Given the description of an element on the screen output the (x, y) to click on. 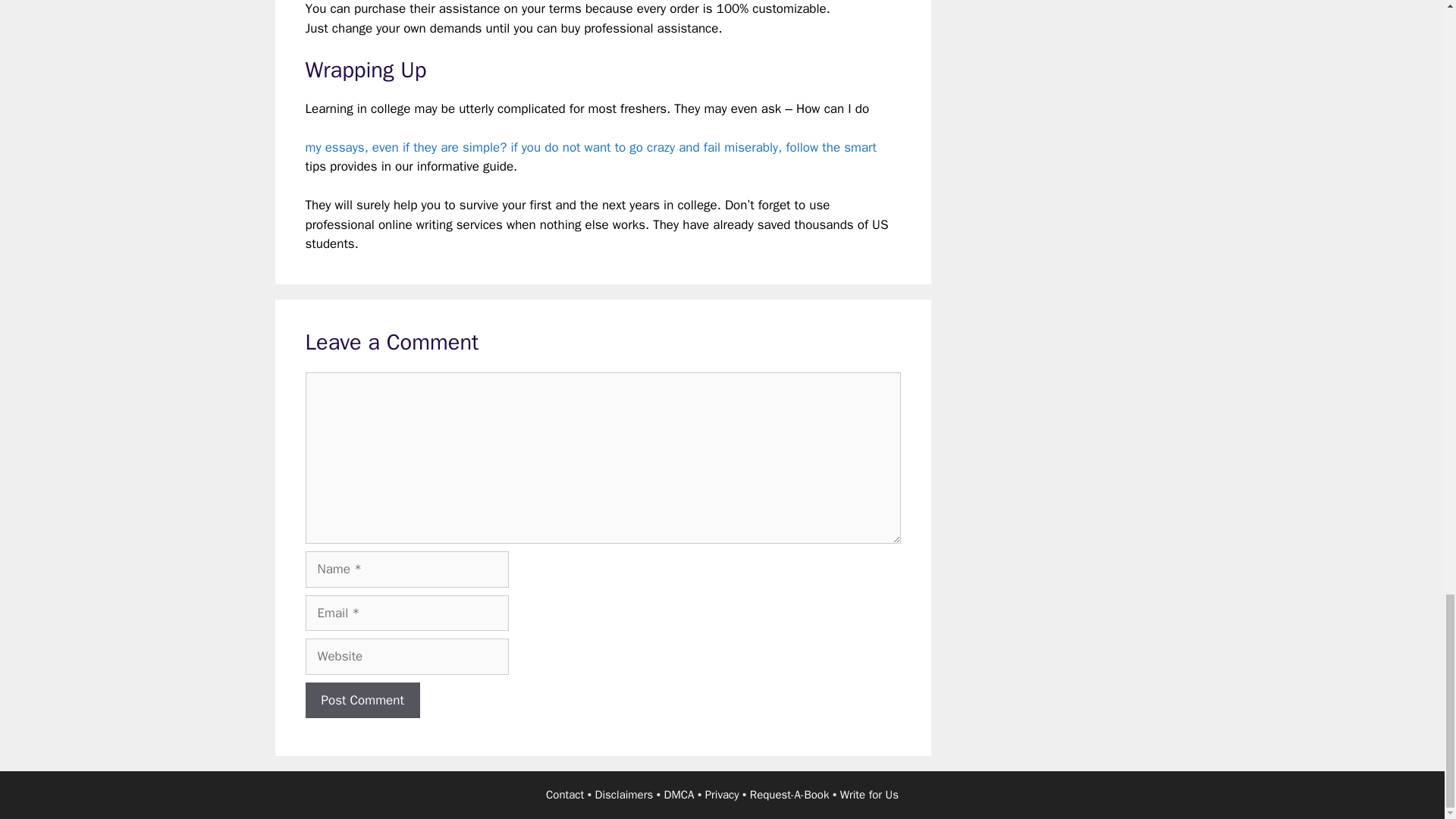
Disclaimers (624, 794)
Contact (564, 794)
Privacy (721, 794)
DMCA (678, 794)
Post Comment (361, 700)
Write for Us (869, 794)
Request-A-Book (789, 794)
Post Comment (361, 700)
